Given the description of an element on the screen output the (x, y) to click on. 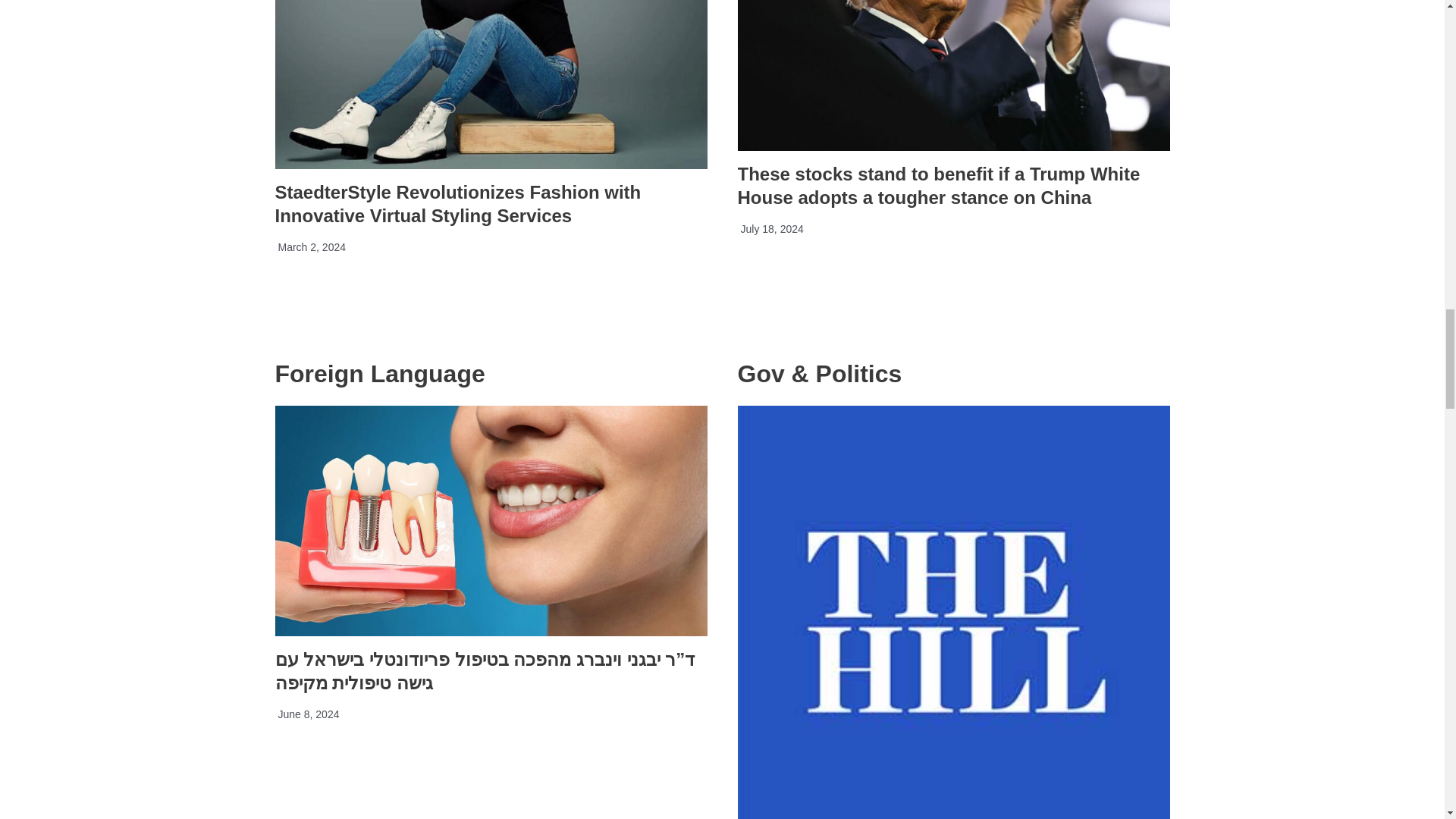
Advertisement (490, 788)
